Given the description of an element on the screen output the (x, y) to click on. 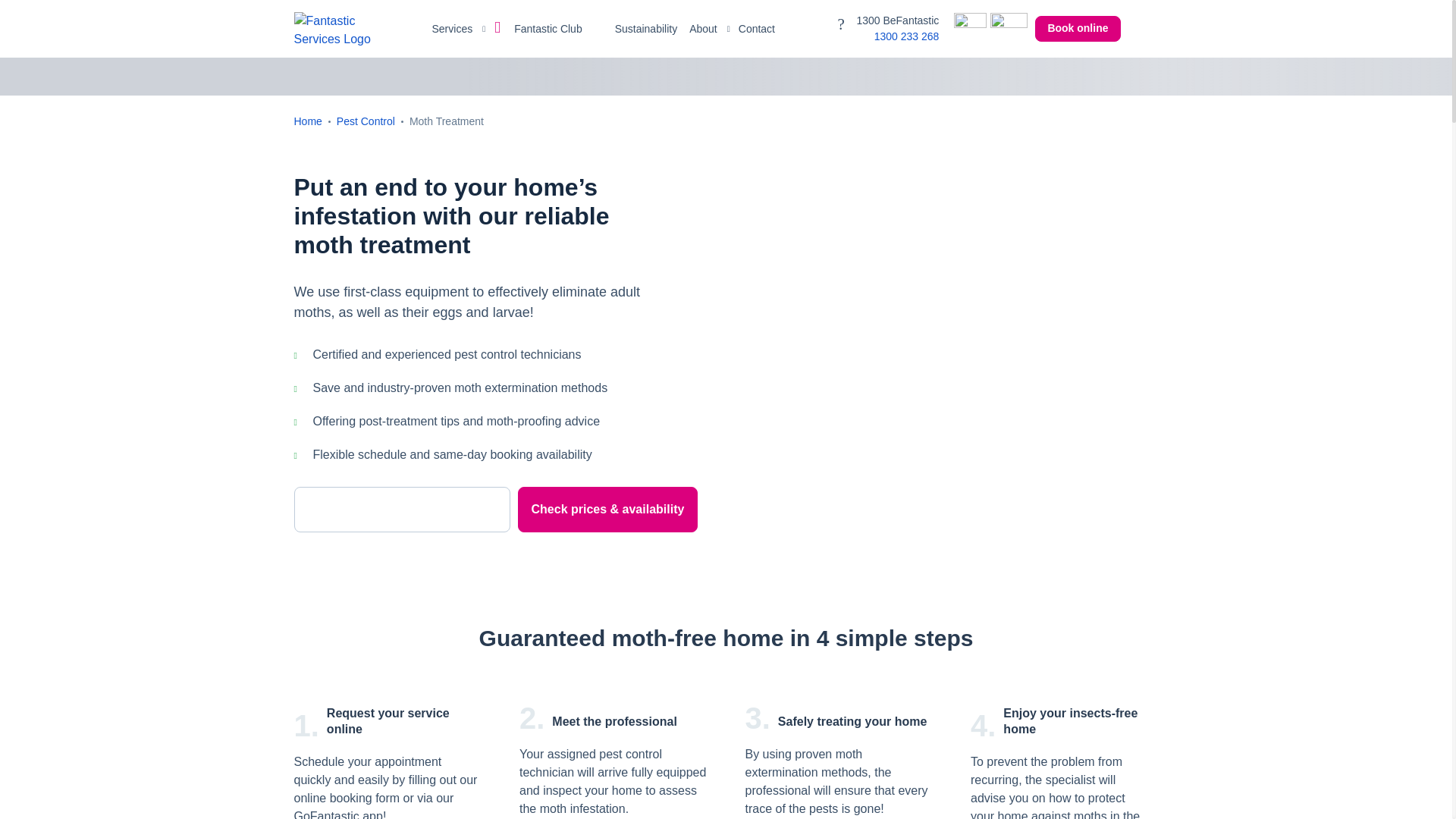
Fantastic Services (345, 28)
Services (456, 28)
Services (456, 28)
